Given the description of an element on the screen output the (x, y) to click on. 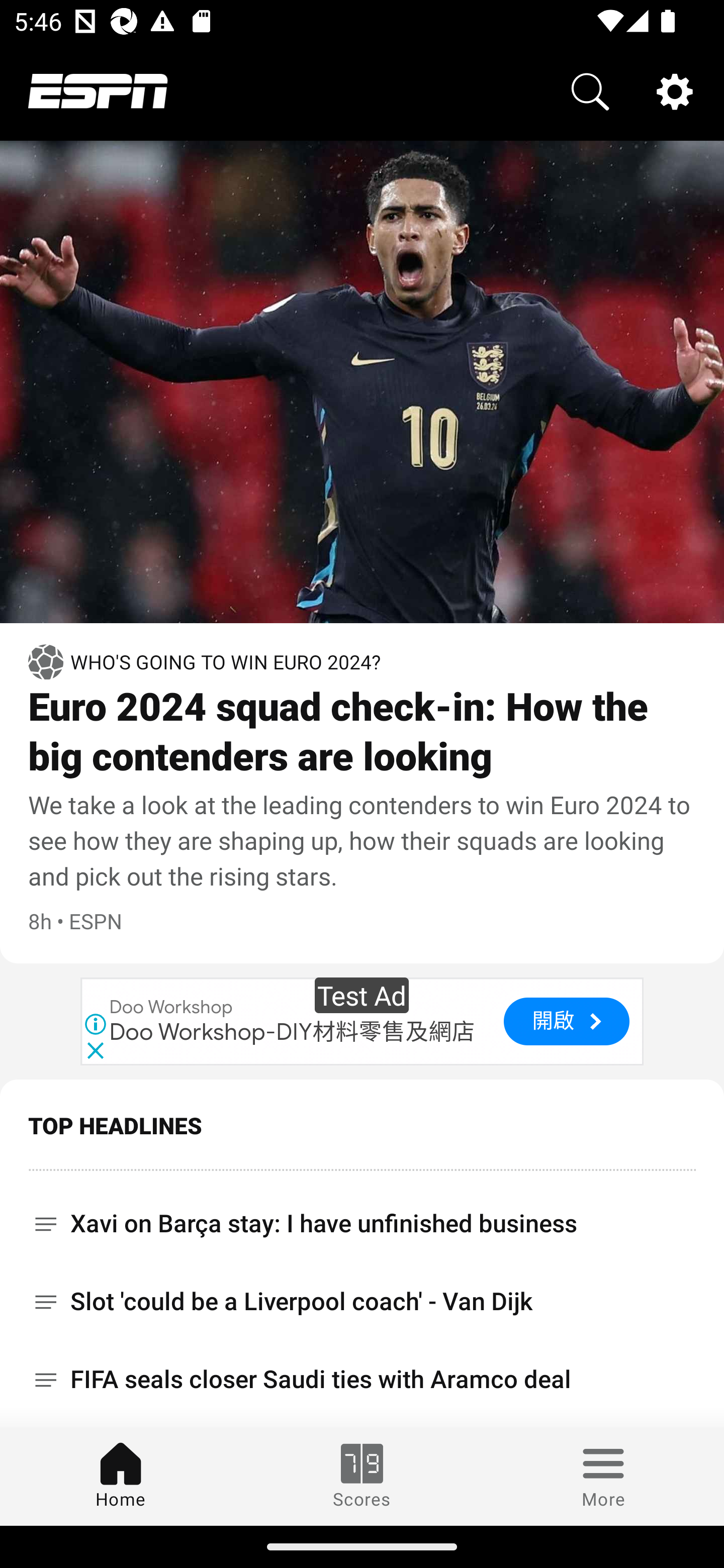
Search (590, 90)
Settings (674, 90)
 Xavi on Barça stay: I have unfinished business (362, 1216)
 Slot 'could be a Liverpool coach' - Van Dijk (362, 1301)
 FIFA seals closer Saudi ties with Aramco deal (362, 1379)
Scores (361, 1475)
More (603, 1475)
